Given the description of an element on the screen output the (x, y) to click on. 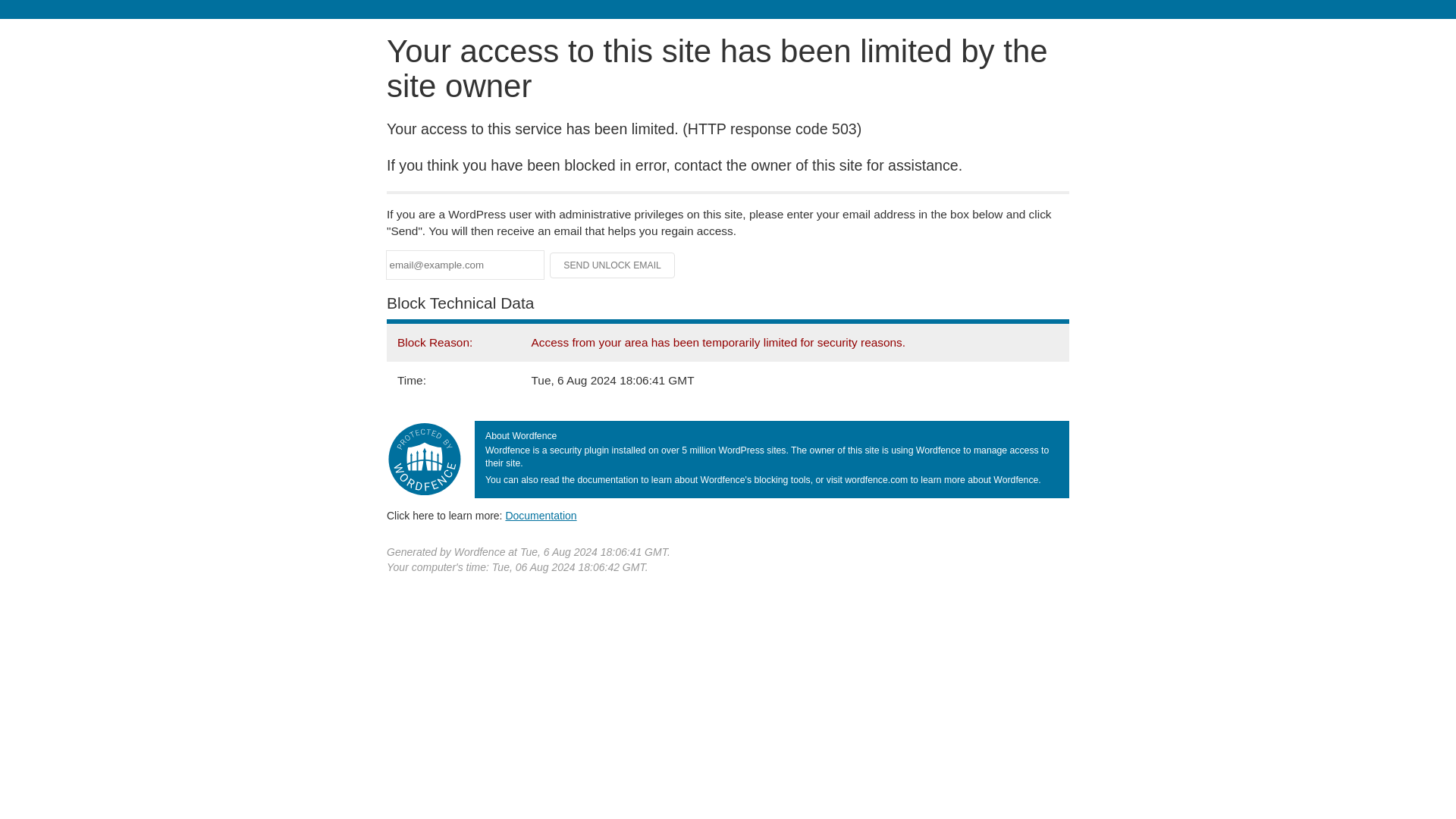
Send Unlock Email (612, 265)
Send Unlock Email (612, 265)
Documentation (540, 515)
